Given the description of an element on the screen output the (x, y) to click on. 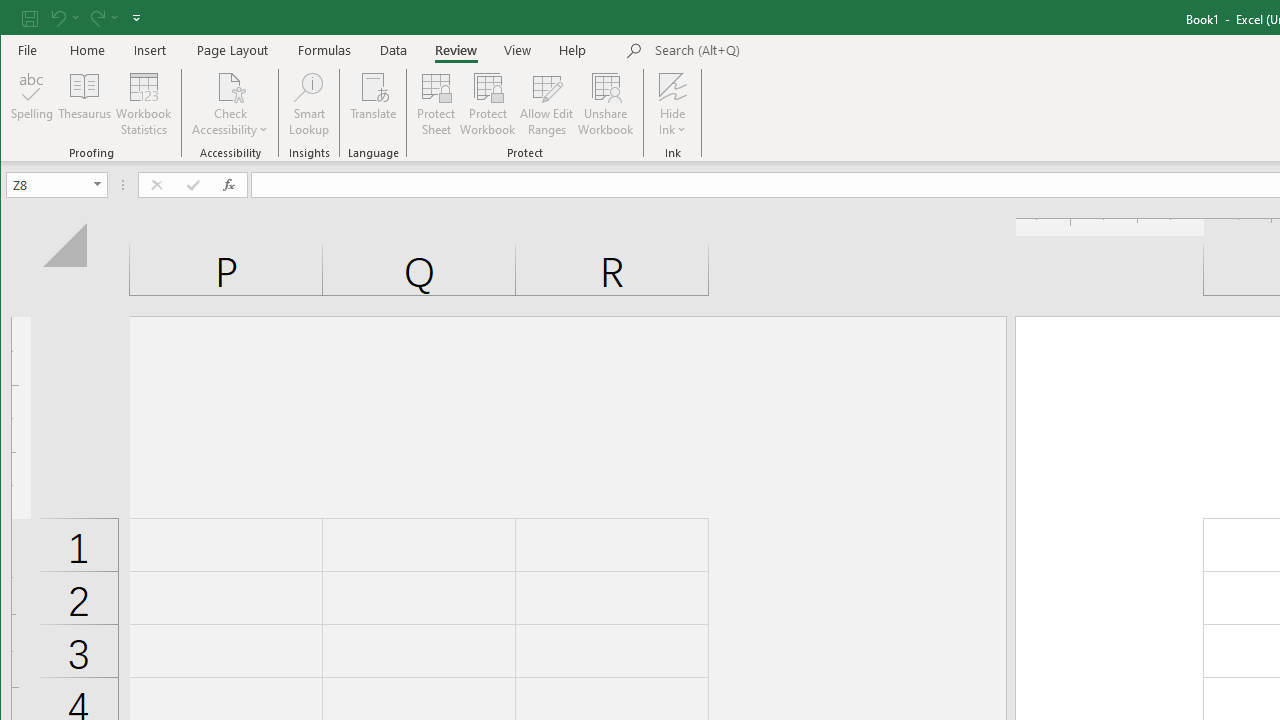
Unshare Workbook (606, 104)
Protect Sheet... (436, 104)
Allow Edit Ranges (547, 104)
Smart Lookup (308, 104)
